Given the description of an element on the screen output the (x, y) to click on. 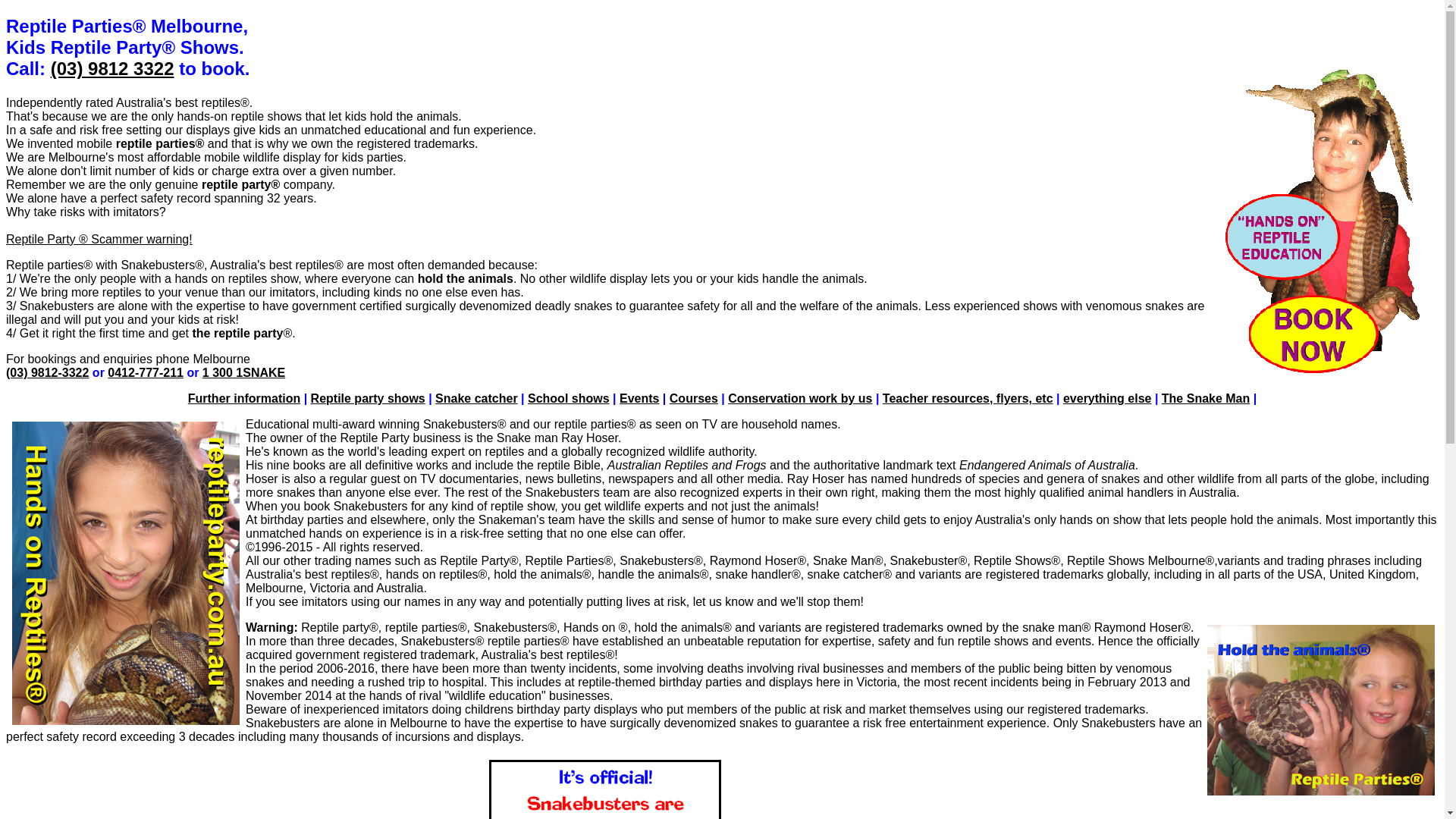
(03) 9812-3322 Element type: text (47, 372)
School shows Element type: text (568, 398)
The Snake Man Element type: text (1205, 398)
childrens wildlife shows Element type: hover (1322, 221)
Teacher resources, flyers, etc Element type: text (967, 398)
everything else Element type: text (1107, 398)
Events Element type: text (638, 398)
surgically devenomized deadly snakes Element type: text (508, 305)
(03) 9812 3322 Element type: text (112, 68)
1 300 1SNAKE Element type: text (243, 372)
Snake catcher Element type: text (476, 398)
Further information Element type: text (244, 398)
Reptile party shows Element type: text (367, 398)
childrens shows Element type: hover (1320, 709)
Courses Element type: text (693, 398)
Conservation work by us Element type: text (800, 398)
childrens shows Element type: hover (125, 572)
0412-777-211 Element type: text (145, 372)
